Given the description of an element on the screen output the (x, y) to click on. 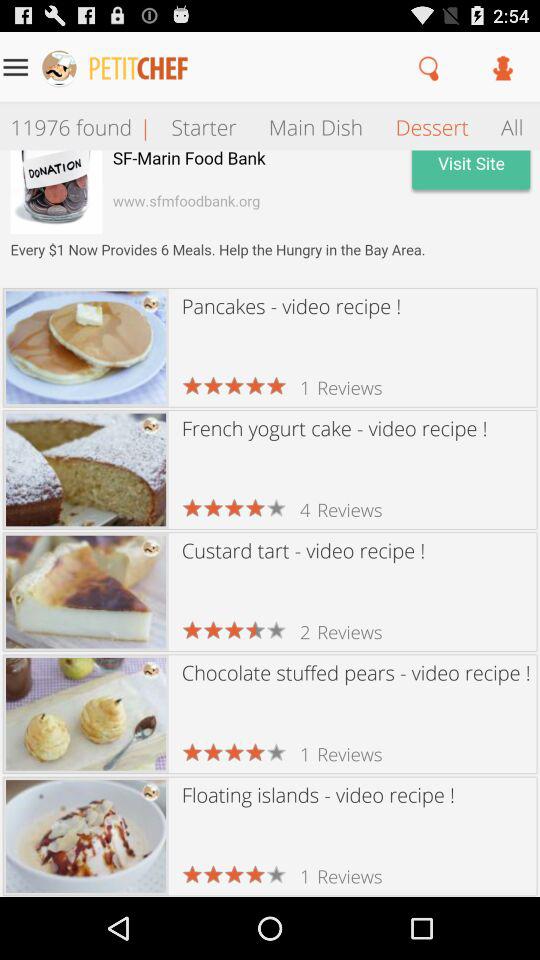
open webpage of displayed advertisement (270, 218)
